Given the description of an element on the screen output the (x, y) to click on. 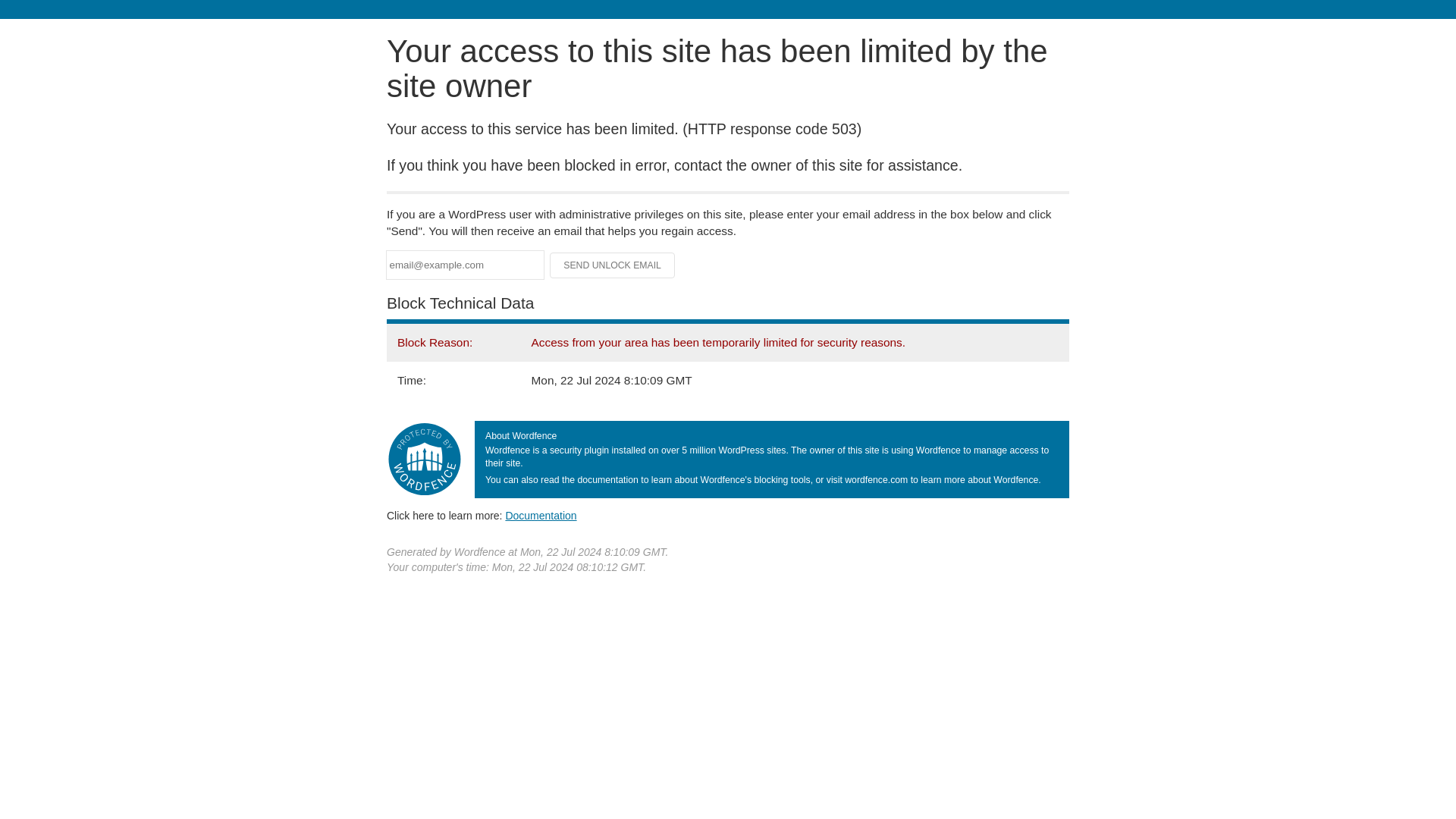
Send Unlock Email (612, 265)
Documentation (540, 515)
Send Unlock Email (612, 265)
